Given the description of an element on the screen output the (x, y) to click on. 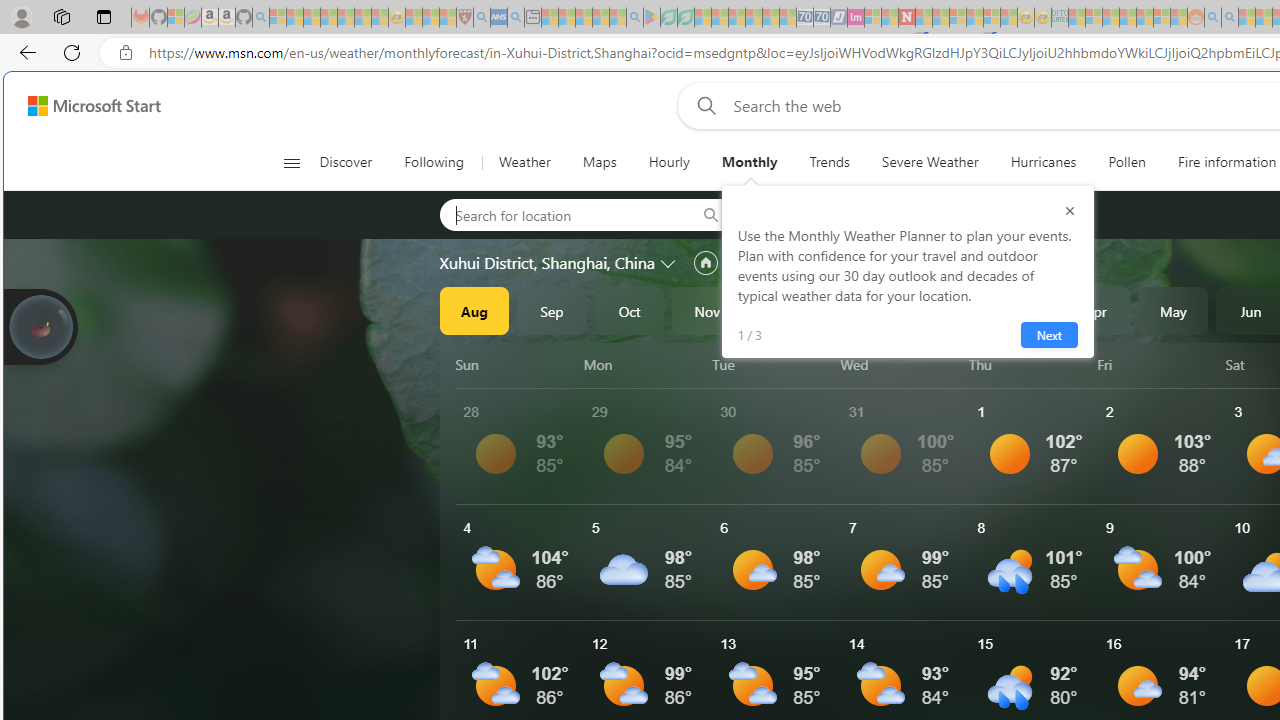
Fire information (1227, 162)
Remove location (934, 214)
Cheap Car Rentals - Save70.com - Sleeping (804, 17)
Hourly (669, 162)
Pollen (1126, 162)
New Report Confirms 2023 Was Record Hot | Watch - Sleeping (345, 17)
Robert H. Shmerling, MD - Harvard Health - Sleeping (465, 17)
